Given the description of an element on the screen output the (x, y) to click on. 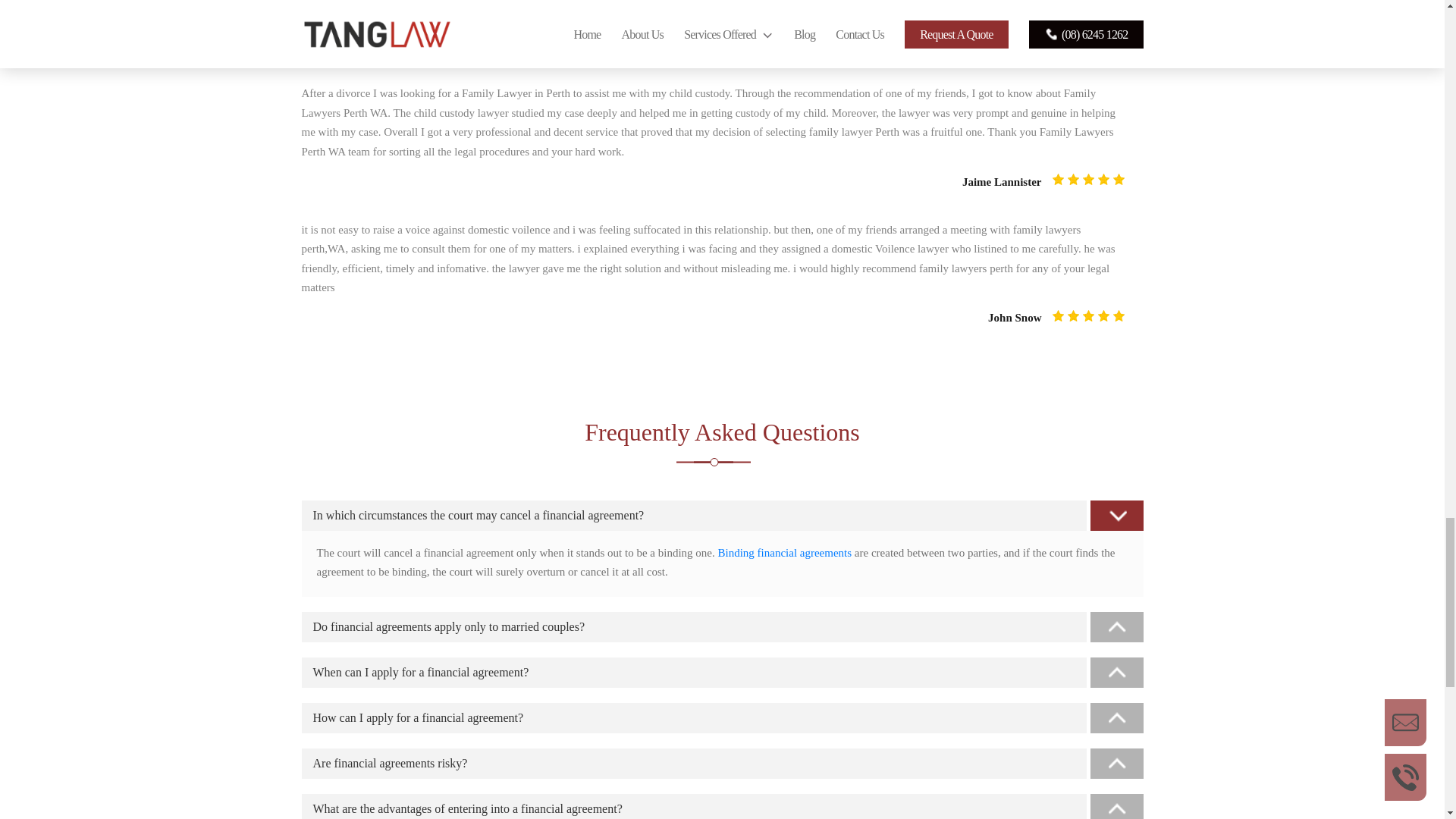
Do financial agreements apply only to married couples? (721, 626)
Binding financial agreements (784, 552)
When can I apply for a financial agreement?  (721, 672)
How can I apply for a financial agreement? (721, 717)
Are financial agreements risky? (721, 763)
